Given the description of an element on the screen output the (x, y) to click on. 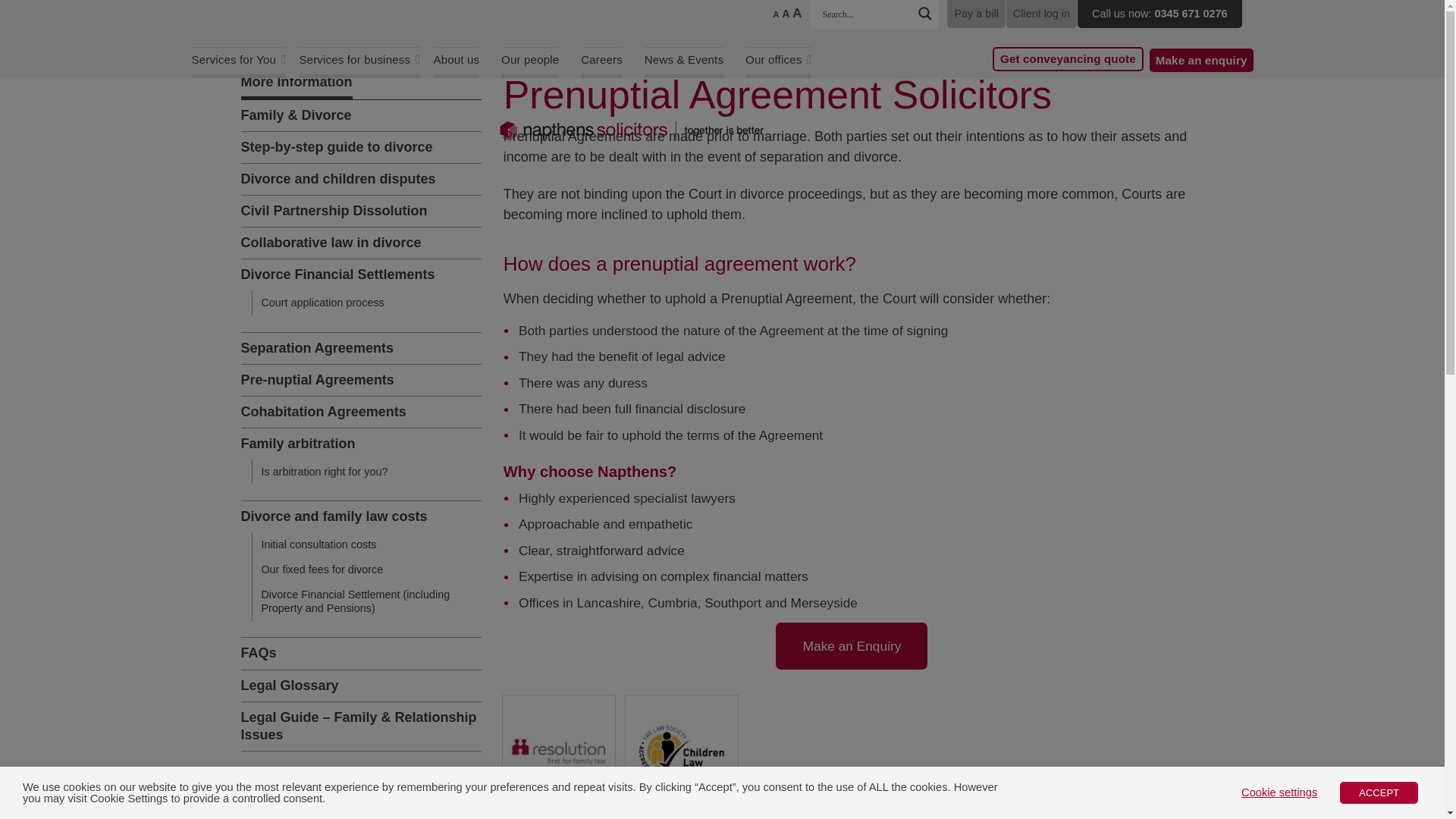
Services for business (359, 61)
0345 671 0276 (1190, 13)
Services for You (237, 61)
Client log in (1041, 13)
Pay a bill (975, 13)
Napthens Solicitors (630, 130)
